Given the description of an element on the screen output the (x, y) to click on. 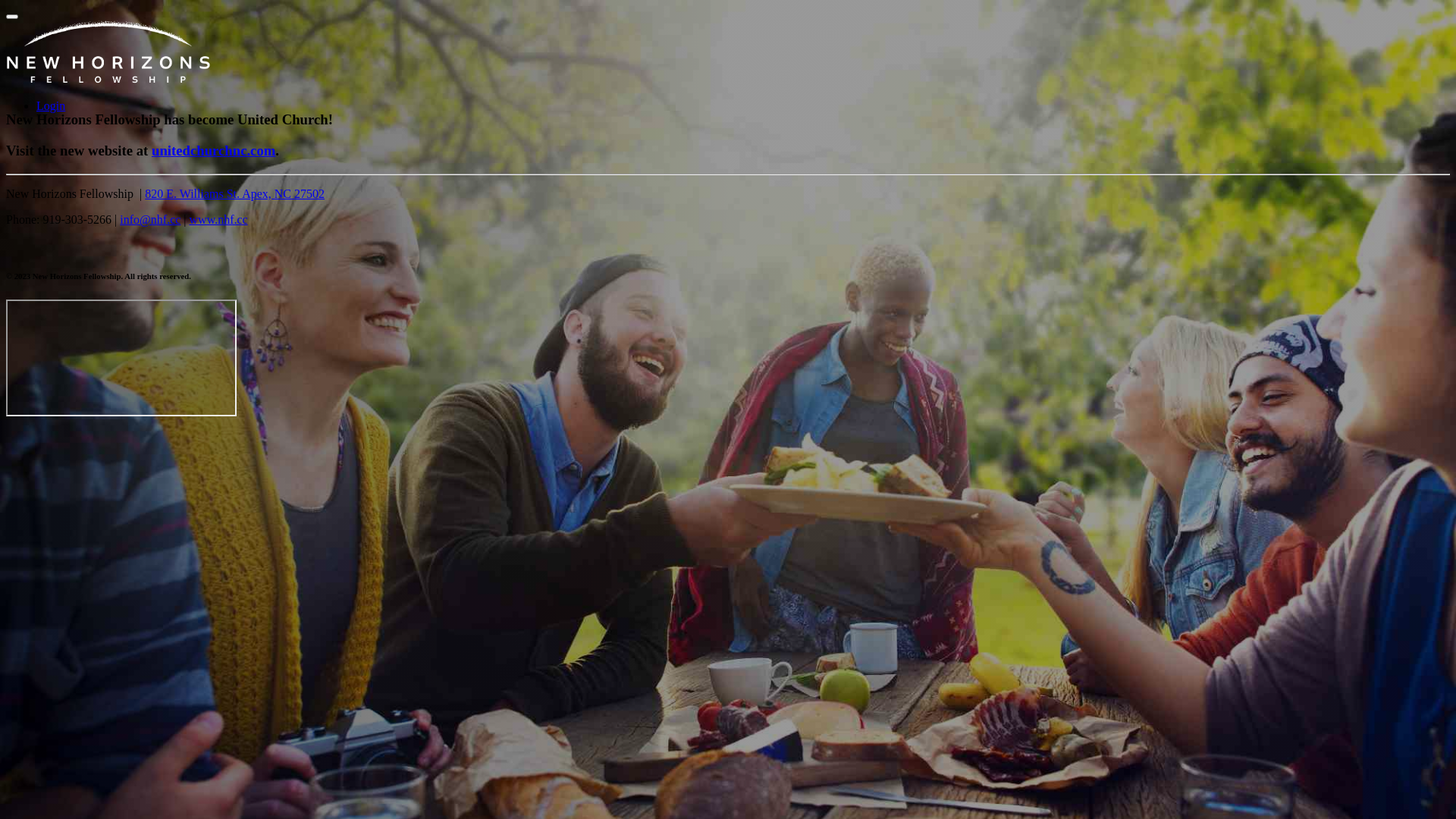
unitedchurchnc.com Element type: text (213, 150)
820 E. Williams St. Apex, NC 27502 Element type: text (234, 193)
Login Element type: text (50, 105)
info@nhf.cc Element type: text (149, 219)
www.nhf.cc Element type: text (218, 219)
